Given the description of an element on the screen output the (x, y) to click on. 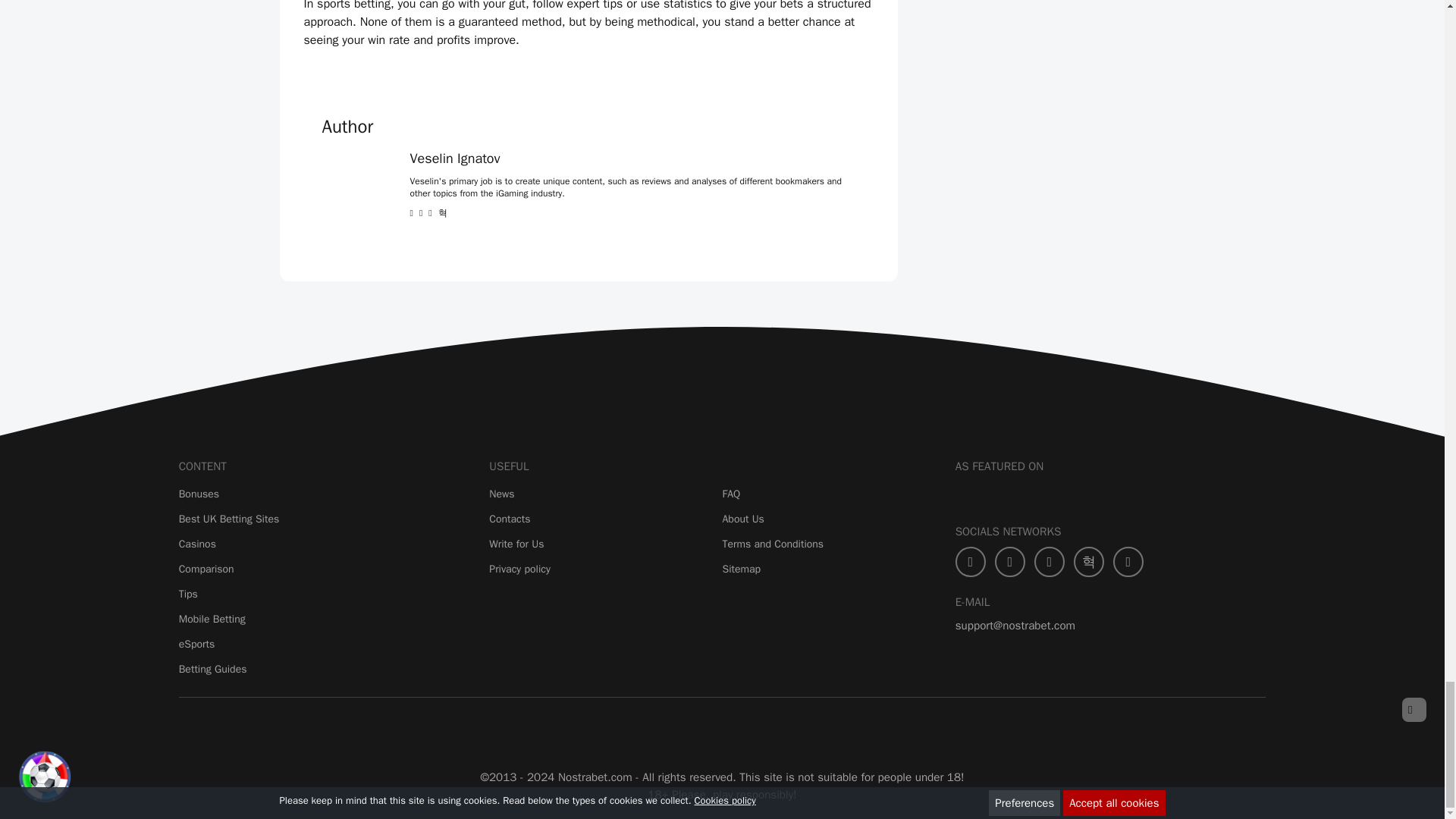
Pinterest (1048, 562)
DMCA.com Protection Status (834, 730)
Facebook (970, 562)
Twitter (1009, 562)
Trustpilot (326, 730)
Linkedin (1127, 562)
Instagram (1088, 562)
instagram (442, 212)
